Given the description of an element on the screen output the (x, y) to click on. 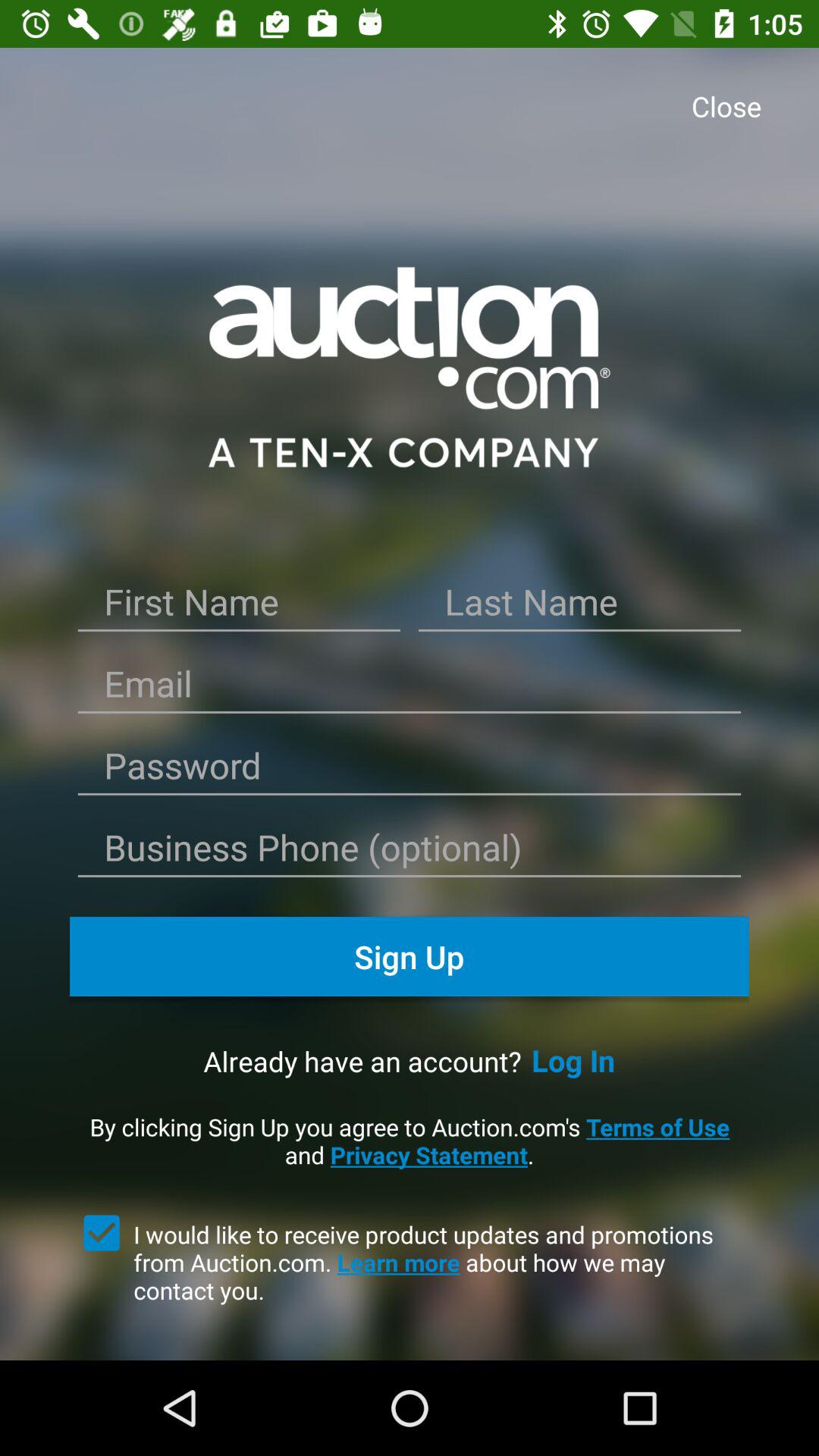
jump to log in item (573, 1060)
